Given the description of an element on the screen output the (x, y) to click on. 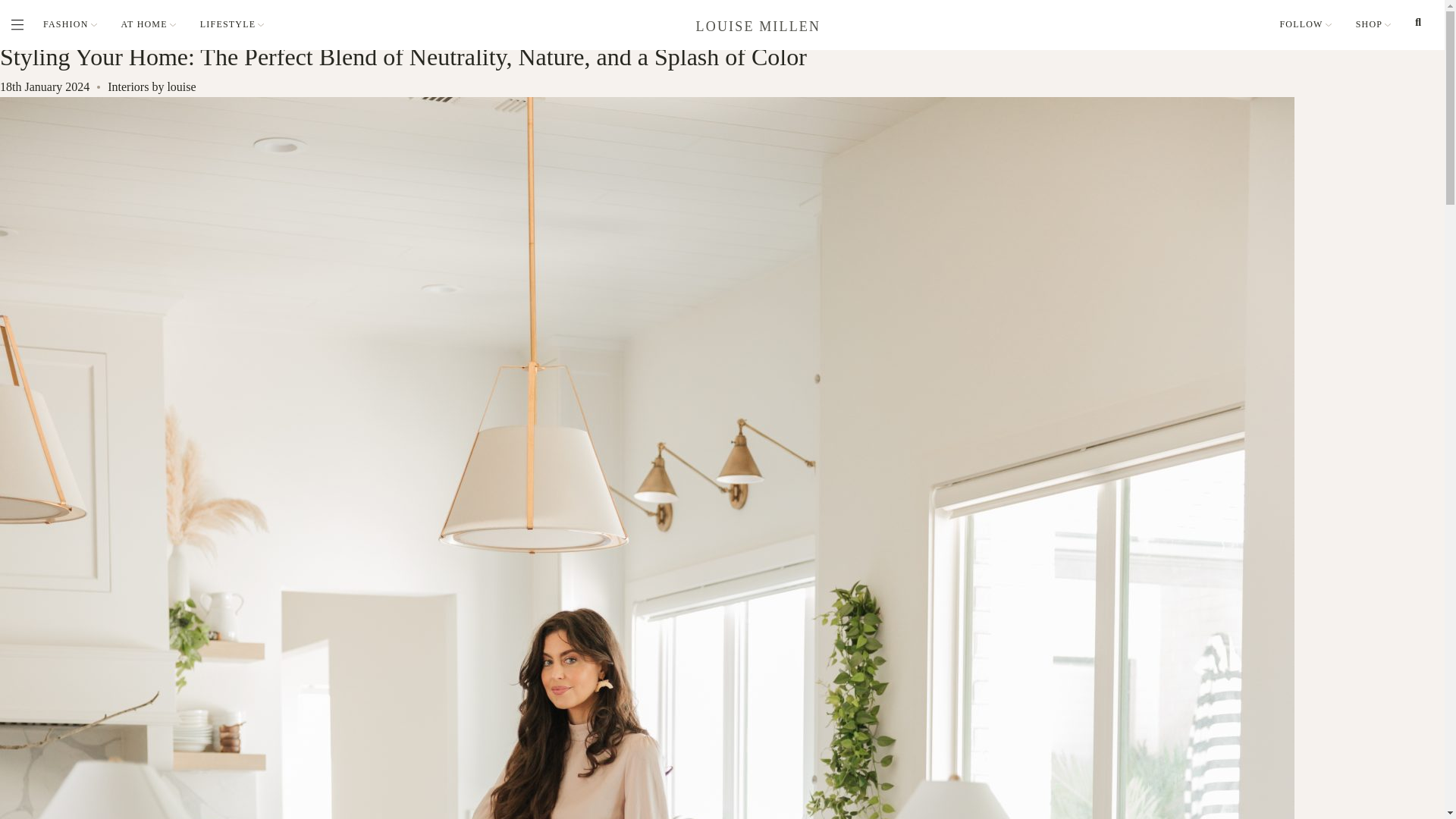
AT HOME (148, 24)
SHOP (1373, 24)
LOUISE MILLEN (758, 26)
FASHION (69, 24)
LIFESTYLE (231, 24)
FOLLOW (1304, 24)
